Given the description of an element on the screen output the (x, y) to click on. 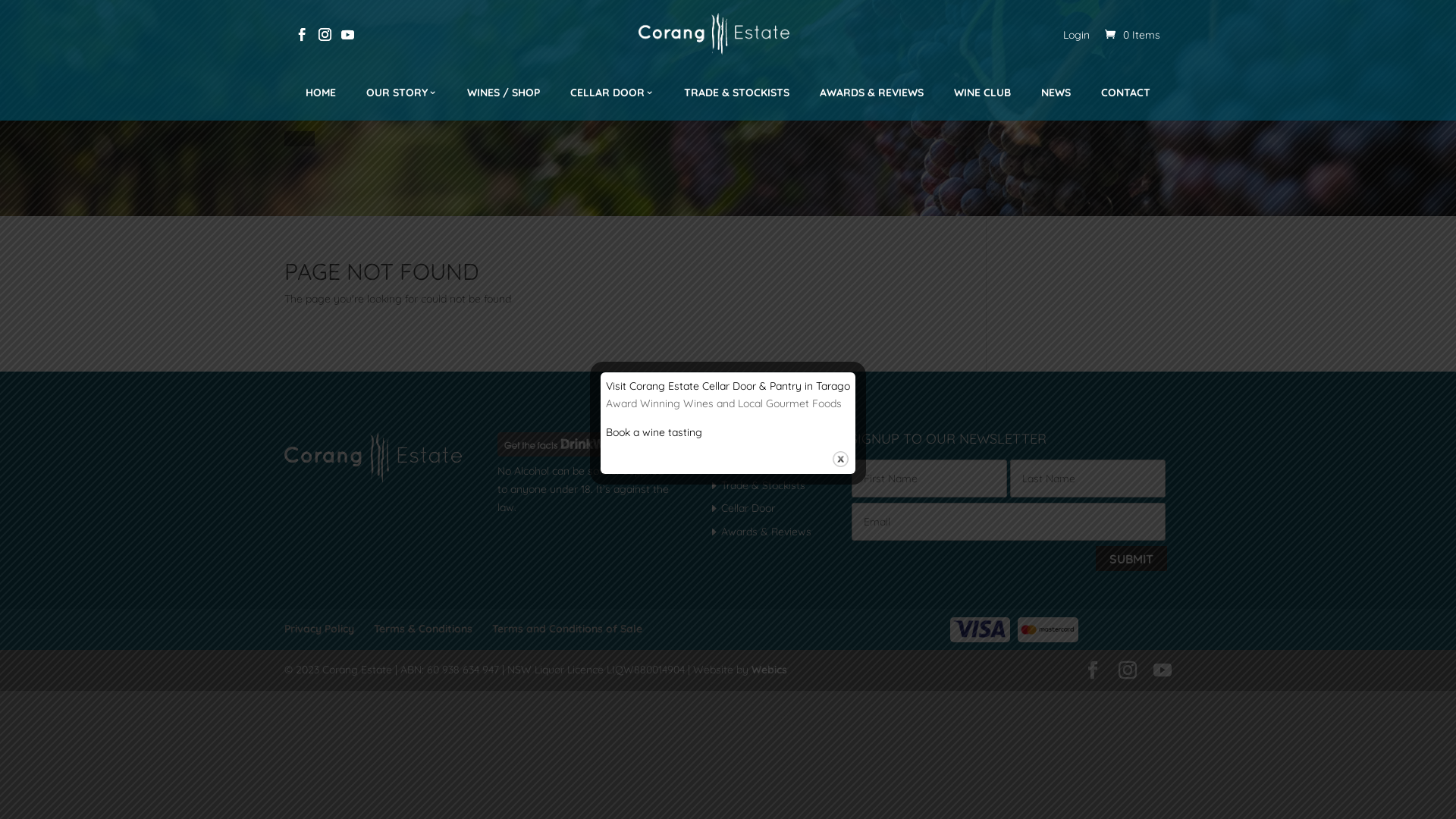
visa-logo Element type: hover (979, 629)
Cellar Door Element type: text (748, 507)
CELLAR DOOR Element type: text (611, 92)
0 Items Element type: text (1132, 34)
Awards & Reviews Element type: text (766, 531)
WINES / SHOP Element type: text (503, 92)
TRADE & STOCKISTS Element type: text (736, 92)
Join Our Wine Club Element type: text (768, 461)
HOME Element type: text (320, 92)
Close Element type: hover (840, 459)
Submit Element type: text (1131, 558)
Terms & Conditions Element type: text (422, 628)
Login Element type: text (1083, 34)
Privacy Policy Element type: text (319, 628)
AWARDS & REVIEWS Element type: text (871, 92)
WINE CLUB Element type: text (982, 92)
Trade & Stockists Element type: text (763, 485)
Book a wine tasting Element type: text (653, 432)
Visit Corang Estate Cellar Door & Pantry in Tarago Element type: text (727, 385)
Terms and Conditions of Sale Element type: text (567, 628)
CONTACT Element type: text (1125, 92)
OUR STORY Element type: text (401, 92)
visa-logo Element type: hover (1047, 629)
NEWS Element type: text (1055, 92)
Webics Element type: text (769, 669)
